Given the description of an element on the screen output the (x, y) to click on. 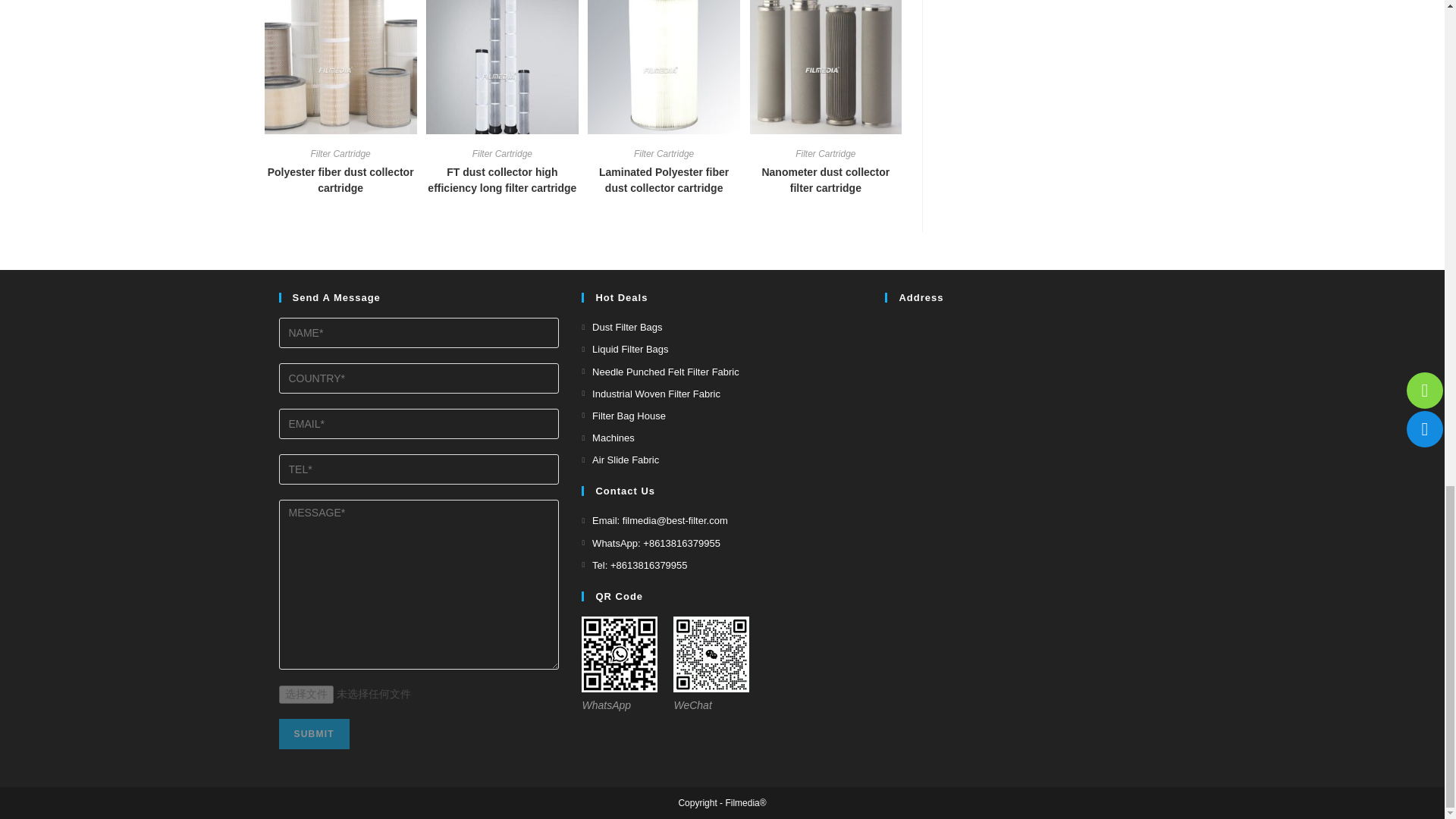
Submit (314, 734)
